Given the description of an element on the screen output the (x, y) to click on. 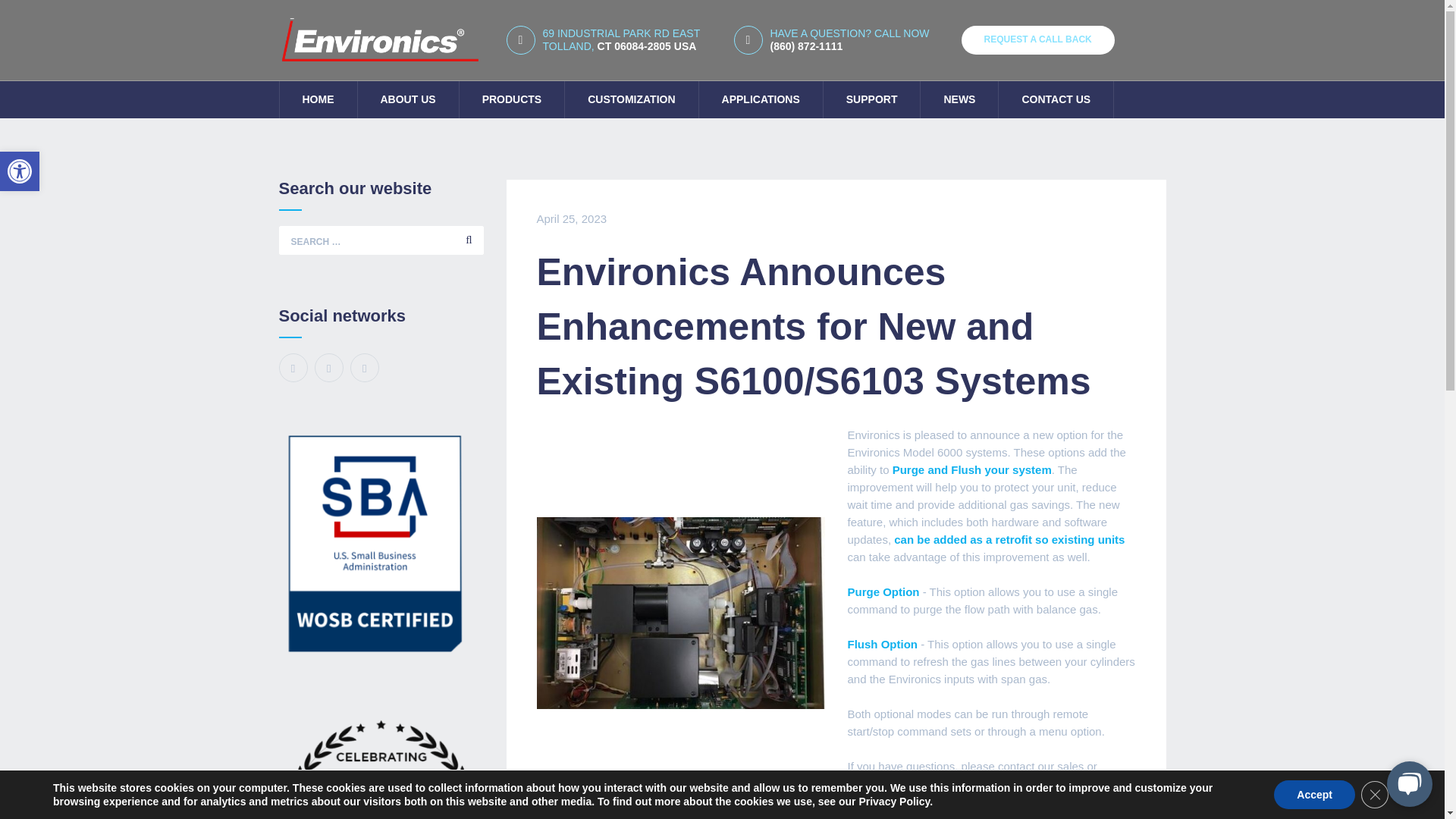
HOME (317, 99)
REQUEST A CALL BACK (1037, 39)
ABOUT US (408, 99)
PRODUCTS (512, 99)
Search (468, 239)
Accessibility Tools (627, 40)
Search (19, 170)
Accessibility Tools (19, 170)
